Given the description of an element on the screen output the (x, y) to click on. 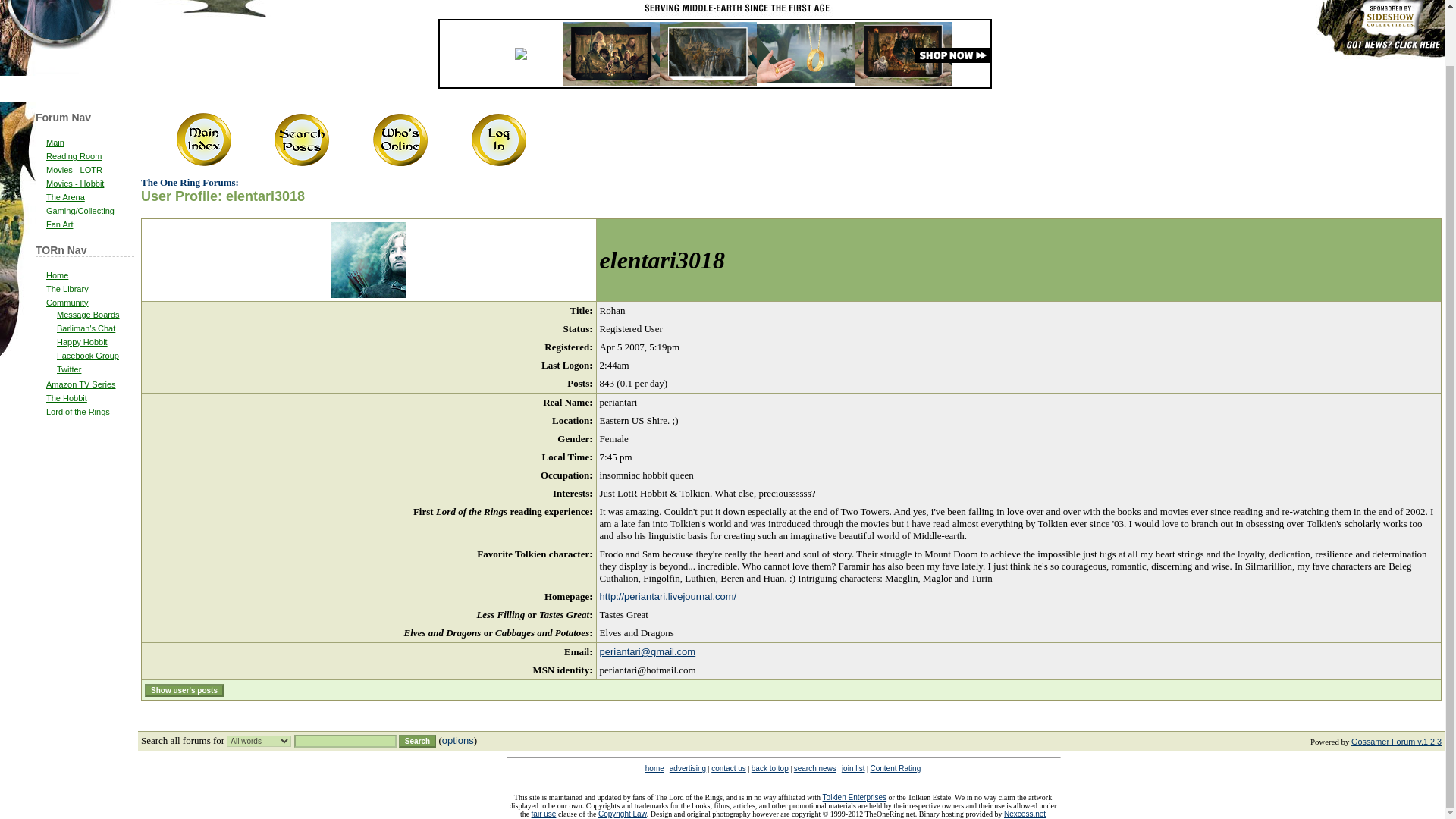
advertising (687, 768)
Lord of the Rings MOvie Discussion (73, 169)
The Arena (65, 196)
Home (57, 275)
Amazon TV Series (81, 384)
shop now (952, 55)
contact us (728, 768)
Fan Art (59, 224)
Message Boards (87, 314)
Happy Hobbit (81, 341)
Hobbit Movie Discussion (74, 183)
Movies - Hobbit (74, 183)
Fan Art (59, 224)
The Tolkien Arena (65, 196)
Search (416, 740)
